Given the description of an element on the screen output the (x, y) to click on. 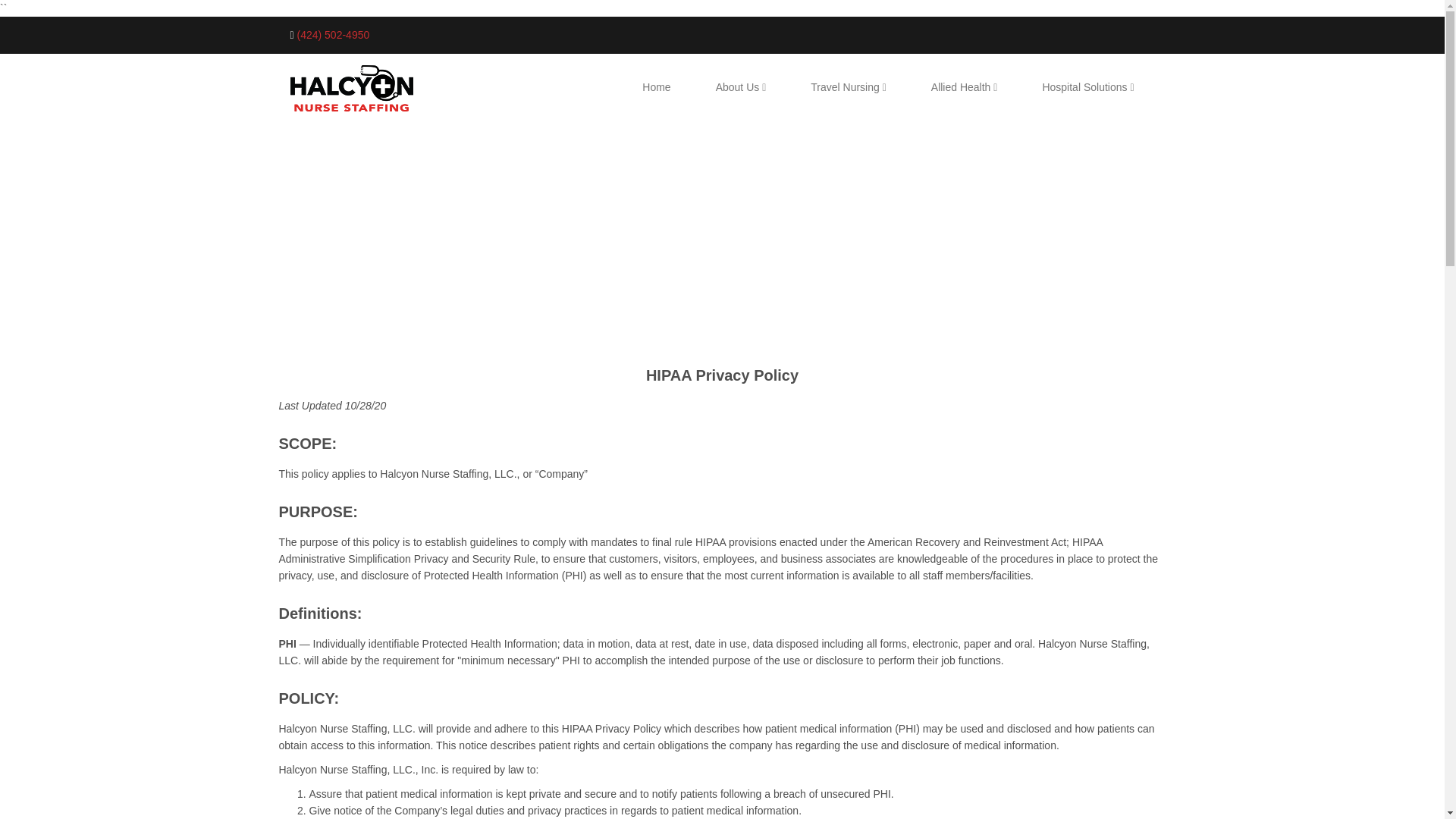
Call Us Now! (333, 34)
Hospital Solutions (1087, 86)
About EMA (741, 86)
Allied Health (964, 86)
Home (656, 86)
Halcyon Nurse Staffing (350, 88)
About Us (741, 86)
Travel Nursing (848, 86)
